Given the description of an element on the screen output the (x, y) to click on. 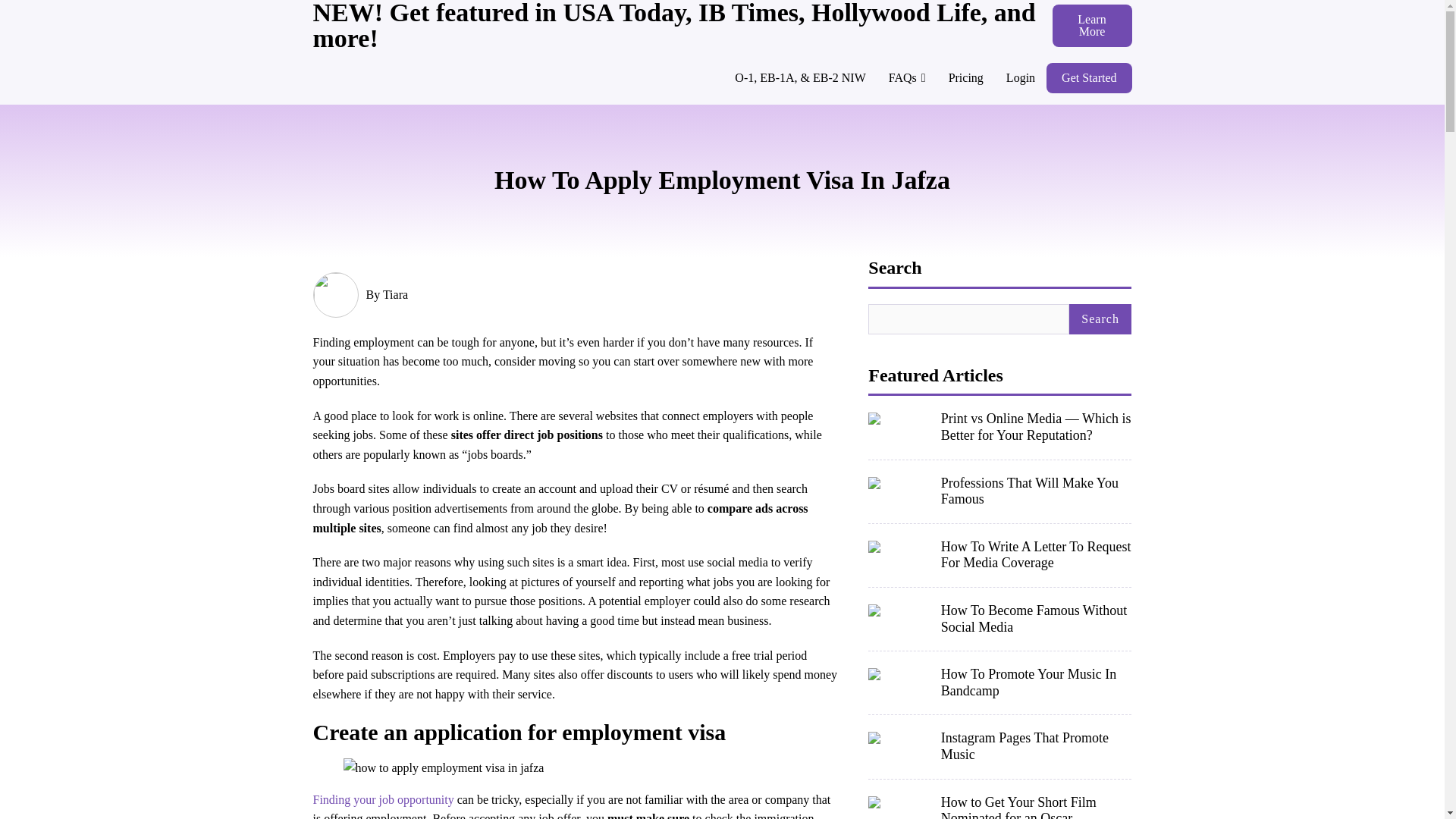
How To Promote Your Music In Bandcamp (1036, 682)
Search (1100, 318)
Login (1020, 77)
Pricing (965, 77)
How to Get Your Short Film Nominated for an Oscar (1036, 806)
Learn More (1092, 25)
How To Write A Letter To Request For Media Coverage (1036, 554)
How To Become Famous Without Social Media (1036, 618)
Search (1100, 318)
Instagram Pages That Promote Music (1036, 746)
FAQs (907, 77)
Get Started (1088, 78)
Professions That Will Make You Famous (1036, 491)
Finding your job opportunity (385, 799)
